Given the description of an element on the screen output the (x, y) to click on. 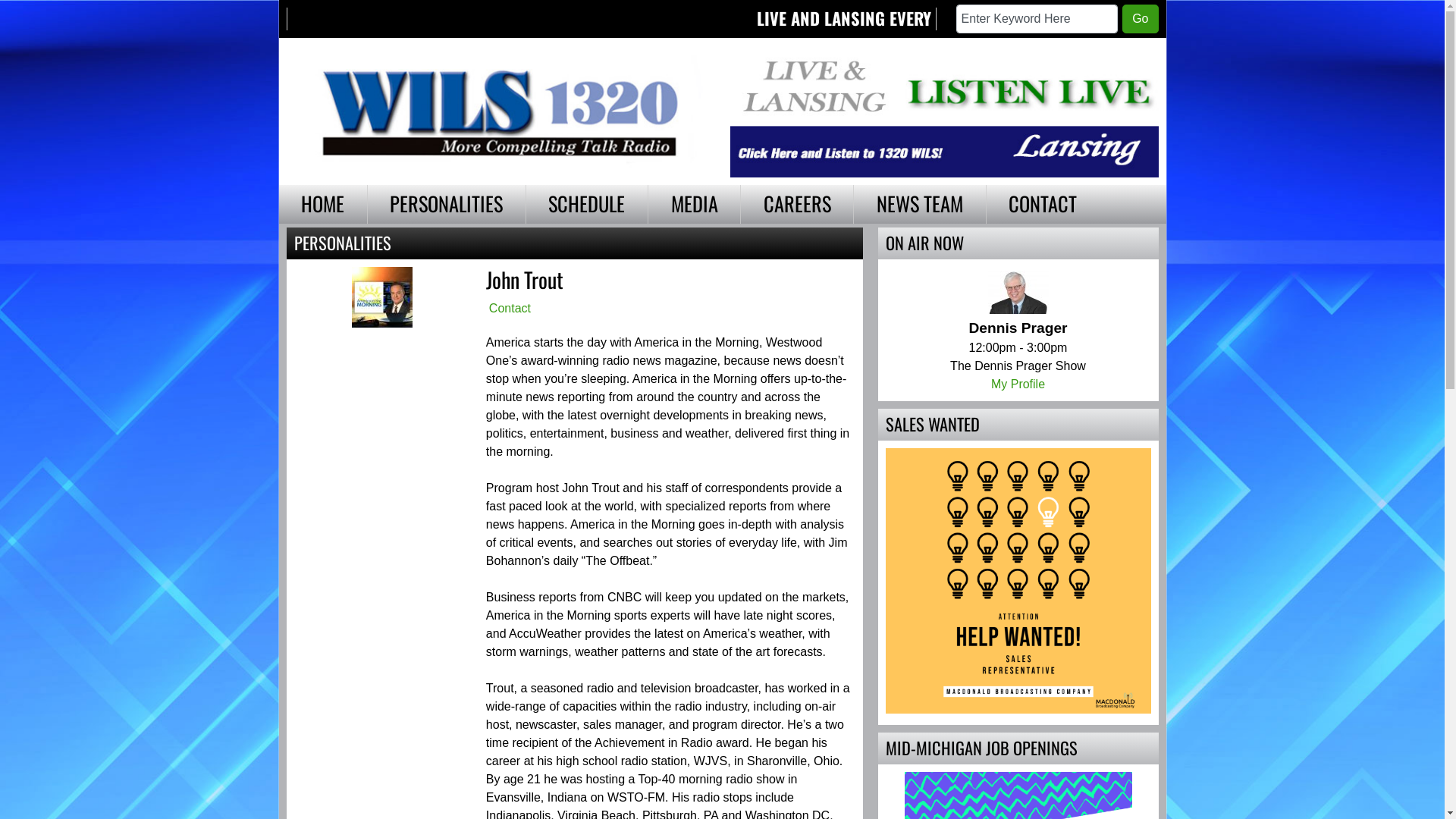
Contact Element type: text (509, 307)
Enter Keyword Here Element type: text (1036, 18)
MEDIA Element type: text (694, 204)
My Profile Element type: text (1017, 383)
CAREERS Element type: text (796, 204)
Go Element type: text (1139, 18)
NEWS TEAM Element type: text (919, 204)
CONTACT Element type: text (1042, 204)
HOME Element type: text (323, 204)
SCHEDULE Element type: text (586, 204)
PERSONALITIES Element type: text (446, 204)
